Given the description of an element on the screen output the (x, y) to click on. 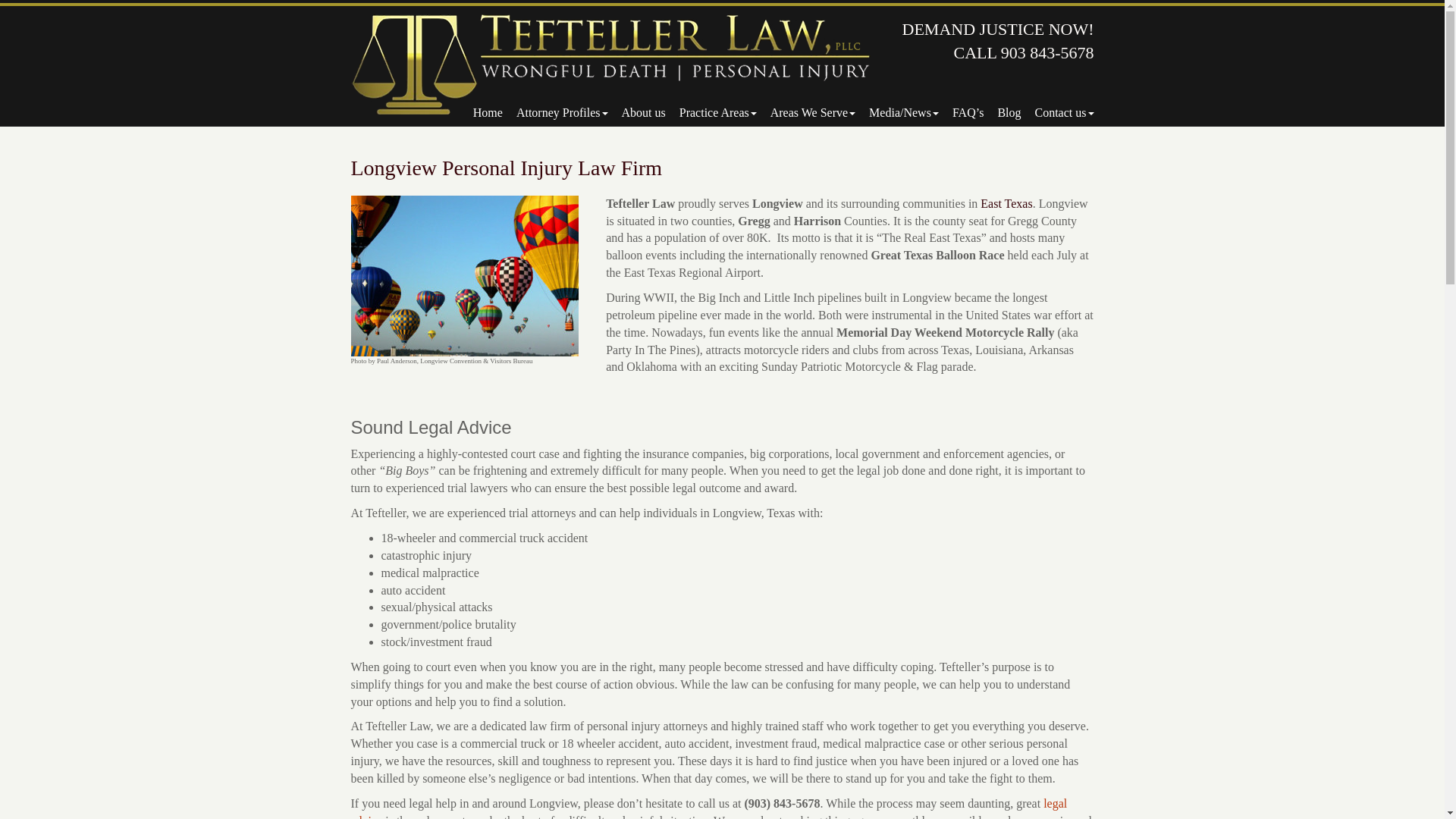
Home (481, 112)
Attorney Profiles (555, 112)
personal injury law firm for East Texas (1005, 203)
Practice Areas (711, 112)
Demand Justice! Call 866-892-6239 (610, 64)
Areas We Serve (806, 112)
About us (636, 112)
